Given the description of an element on the screen output the (x, y) to click on. 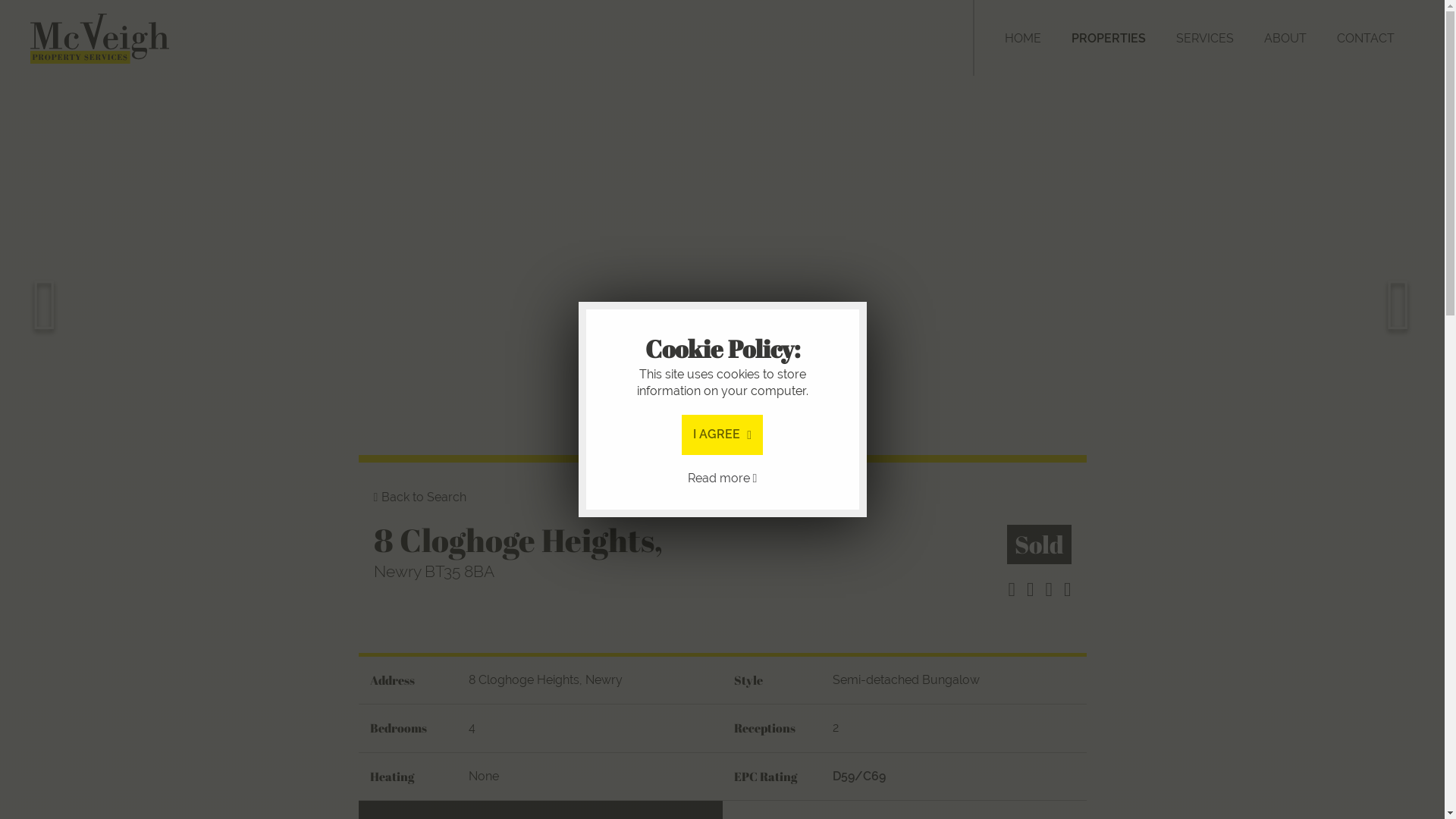
CONTACT (1365, 38)
Read more (722, 532)
PROPERTIES (1108, 38)
HOME (1023, 38)
I AGREE (721, 497)
